Given the description of an element on the screen output the (x, y) to click on. 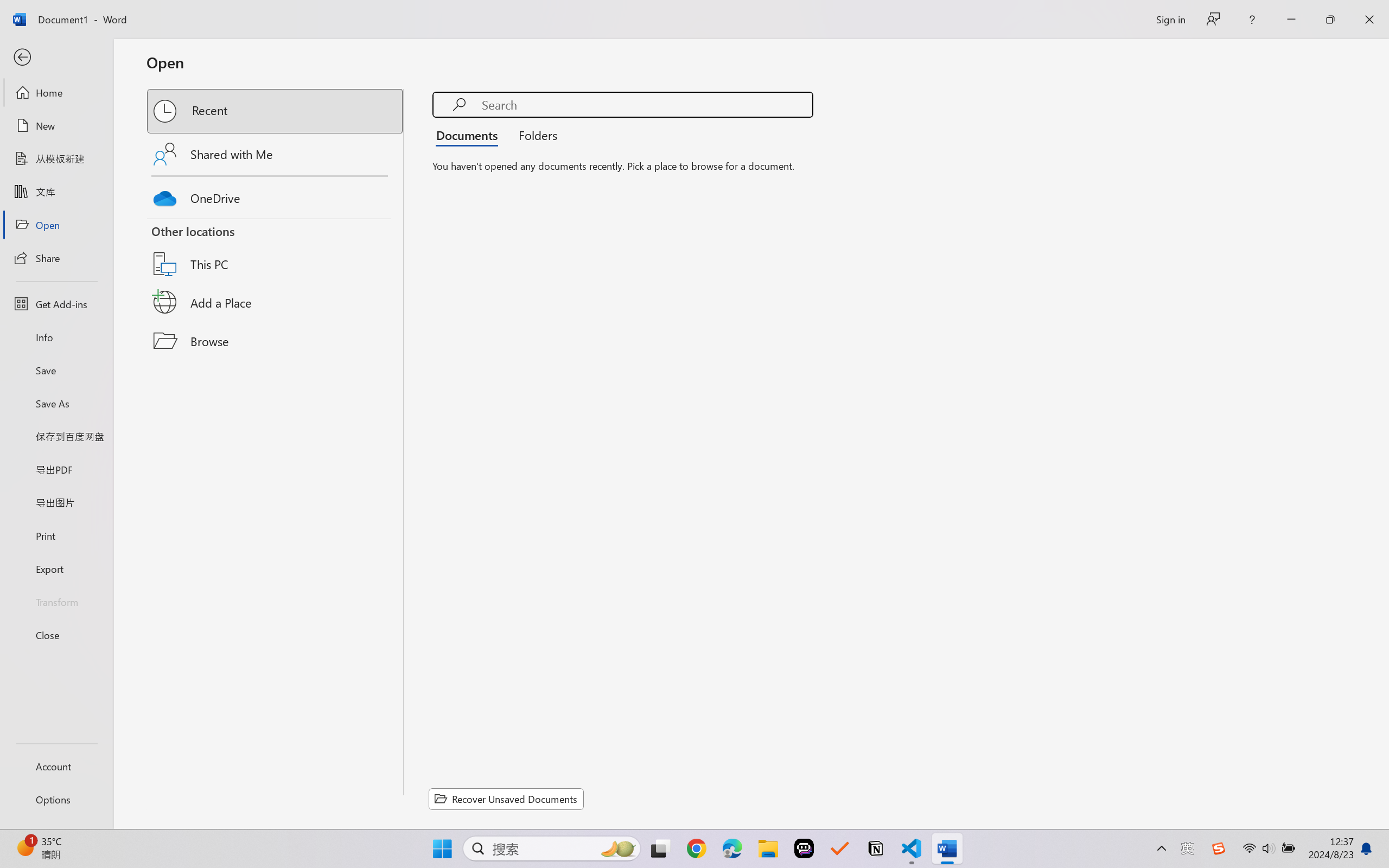
OneDrive (275, 195)
New (56, 125)
Get Add-ins (56, 303)
Recover Unsaved Documents (506, 798)
Transform (56, 601)
